Given the description of an element on the screen output the (x, y) to click on. 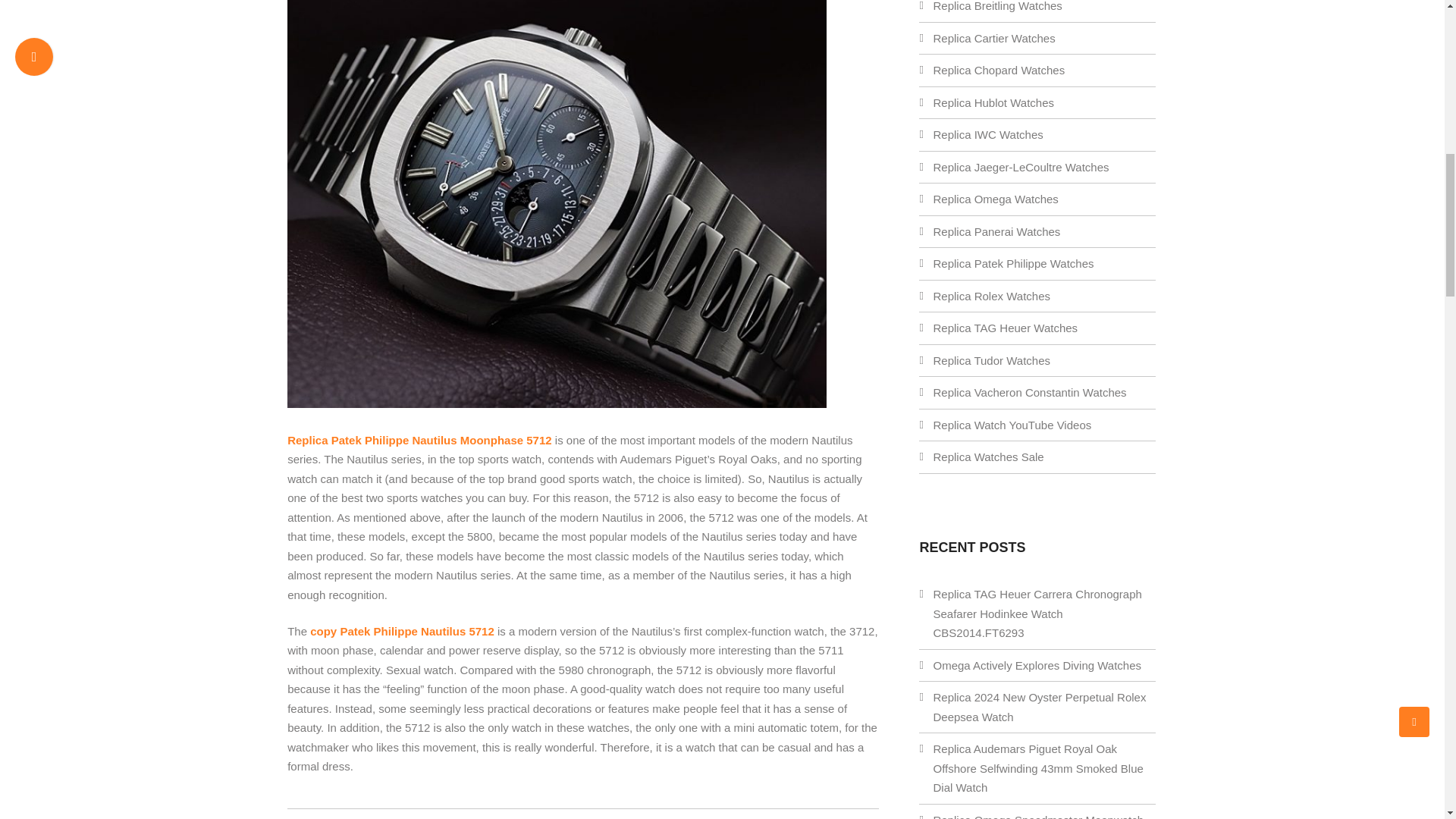
Replica Vacheron Constantin Watches (1029, 391)
Omega Actively Explores Diving Watches (1037, 665)
Replica Omega Speedmaster Moonwatch White Dial Chronograph (1037, 816)
Replica Cartier Watches (993, 38)
